Given the description of an element on the screen output the (x, y) to click on. 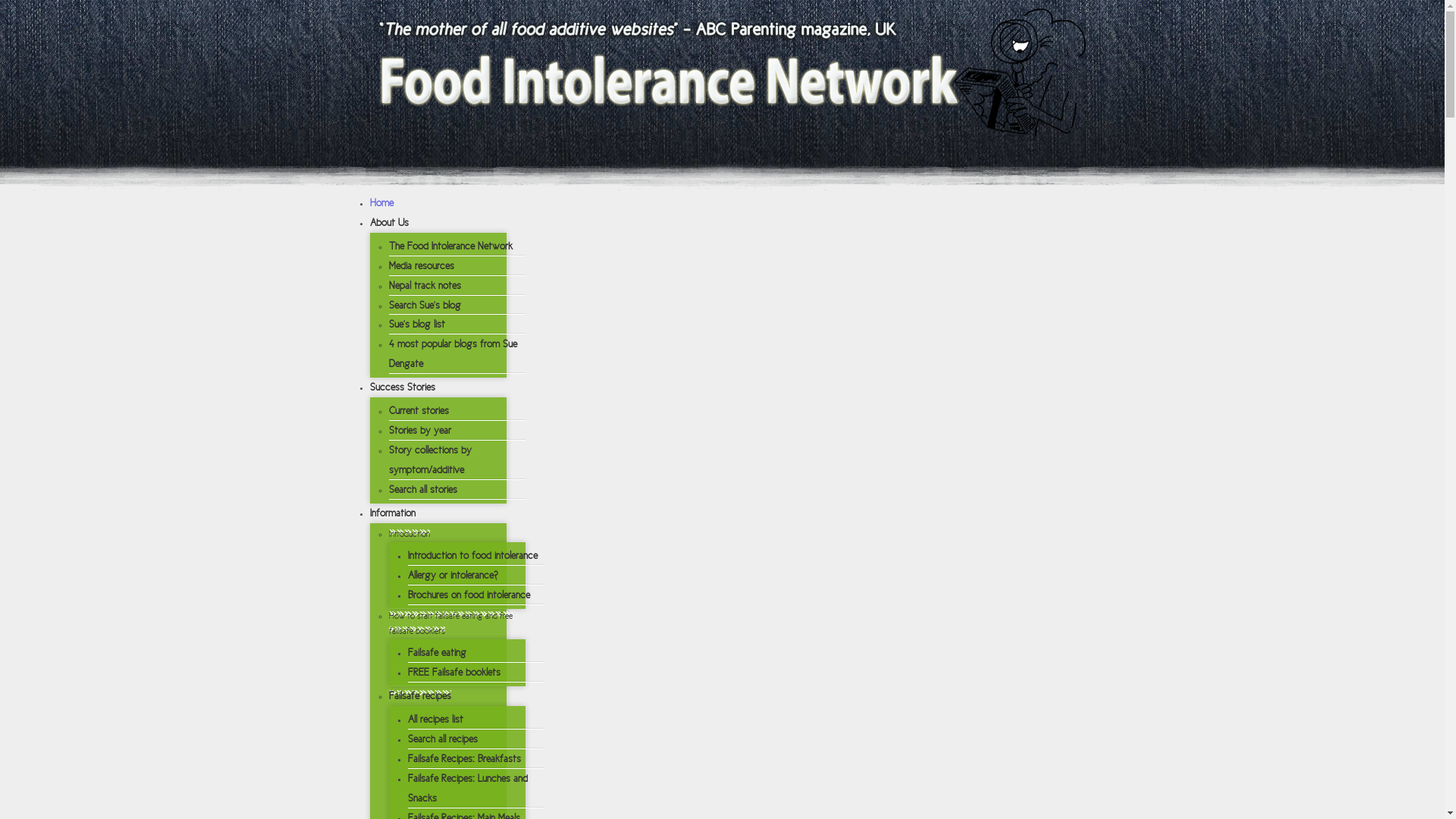
Search all recipes Element type: text (442, 738)
Current stories Element type: text (418, 410)
Search all stories Element type: text (422, 489)
Media resources Element type: text (420, 265)
Sue's blog list Element type: text (416, 323)
Stories by year Element type: text (419, 430)
Introduction to food intolerance Element type: text (470, 327)
Success story [992] Element type: text (752, 492)
Failsafe recipes Element type: text (419, 695)
Nepal track notes Element type: text (424, 285)
Failsafe Recipes: Lunches and Snacks Element type: text (467, 787)
4 most popular blogs from Sue Dengate Element type: text (452, 353)
Information Element type: text (392, 512)
Success Stories Element type: text (402, 386)
Failsafe Recipes: Breakfasts Element type: text (463, 758)
Introduction to food intolerance Element type: text (472, 555)
Failsafe eating Element type: text (436, 652)
Latest Failsafe Newsletter Element type: text (455, 526)
Allergy or intolerance? Element type: text (452, 574)
VIDEO Introduction to food intolerance Element type: text (488, 358)
Story collections by symptom/additive Element type: text (429, 459)
Home Element type: text (381, 202)
About Us Element type: text (389, 222)
Search Sue's blog Element type: text (424, 304)
Brochures on food intolerance Element type: text (468, 594)
Additives to avoid Element type: text (435, 661)
Quick quiz: what's wrong with this label? Element type: text (494, 696)
FREE Failsafe booklets Element type: text (453, 671)
The Food Intolerance Network Element type: text (449, 245)
All recipes list Element type: text (435, 718)
